Given the description of an element on the screen output the (x, y) to click on. 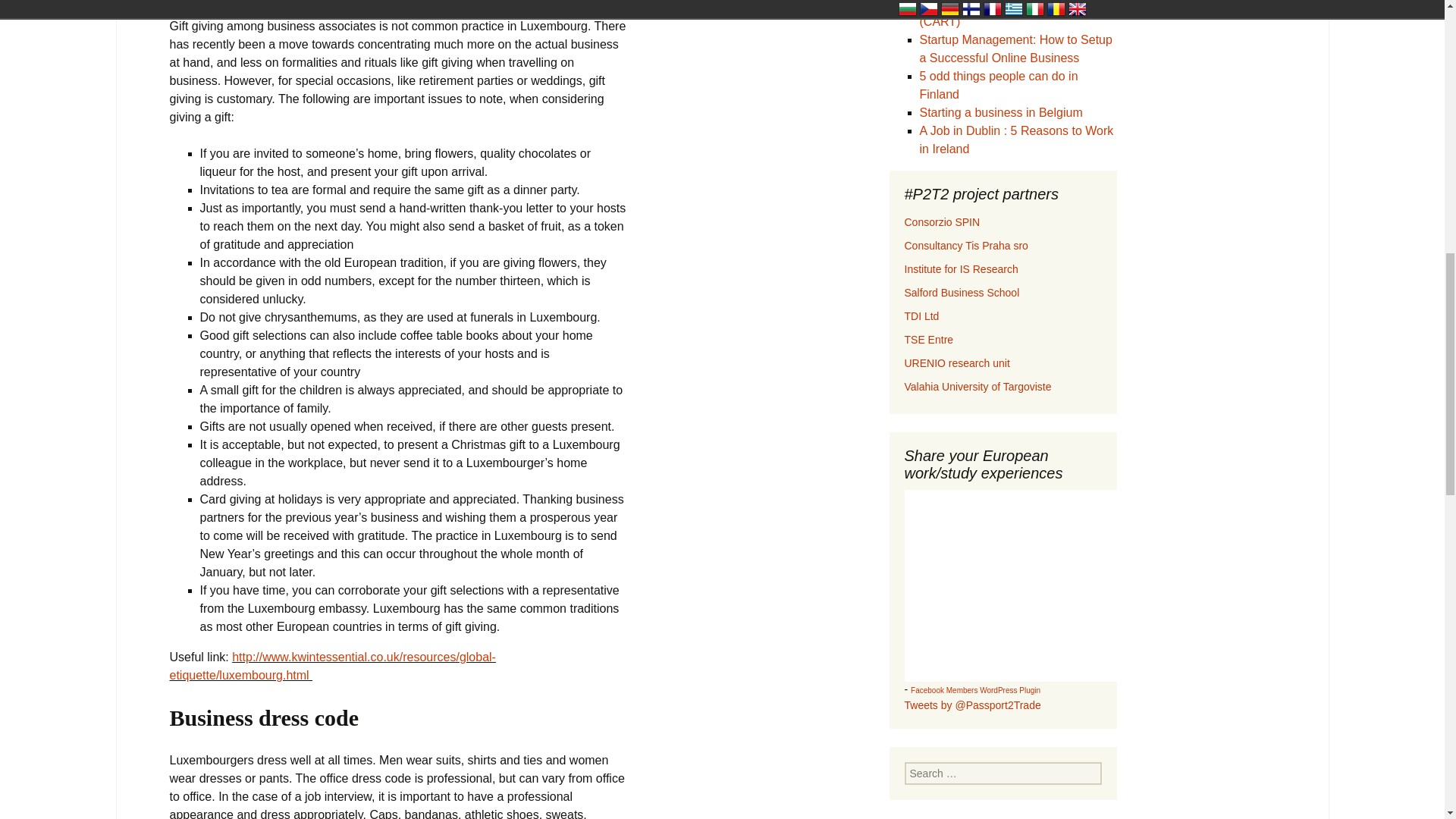
Look Starting a business in Belgium (999, 112)
Look A Job in Dublin : 5 Reasons to Work in Ireland (1015, 139)
TIS Praha (965, 245)
Look 5 odd things people can do in Finland (997, 84)
Institute for Information Systems Research (960, 268)
SPIN (941, 222)
